Given the description of an element on the screen output the (x, y) to click on. 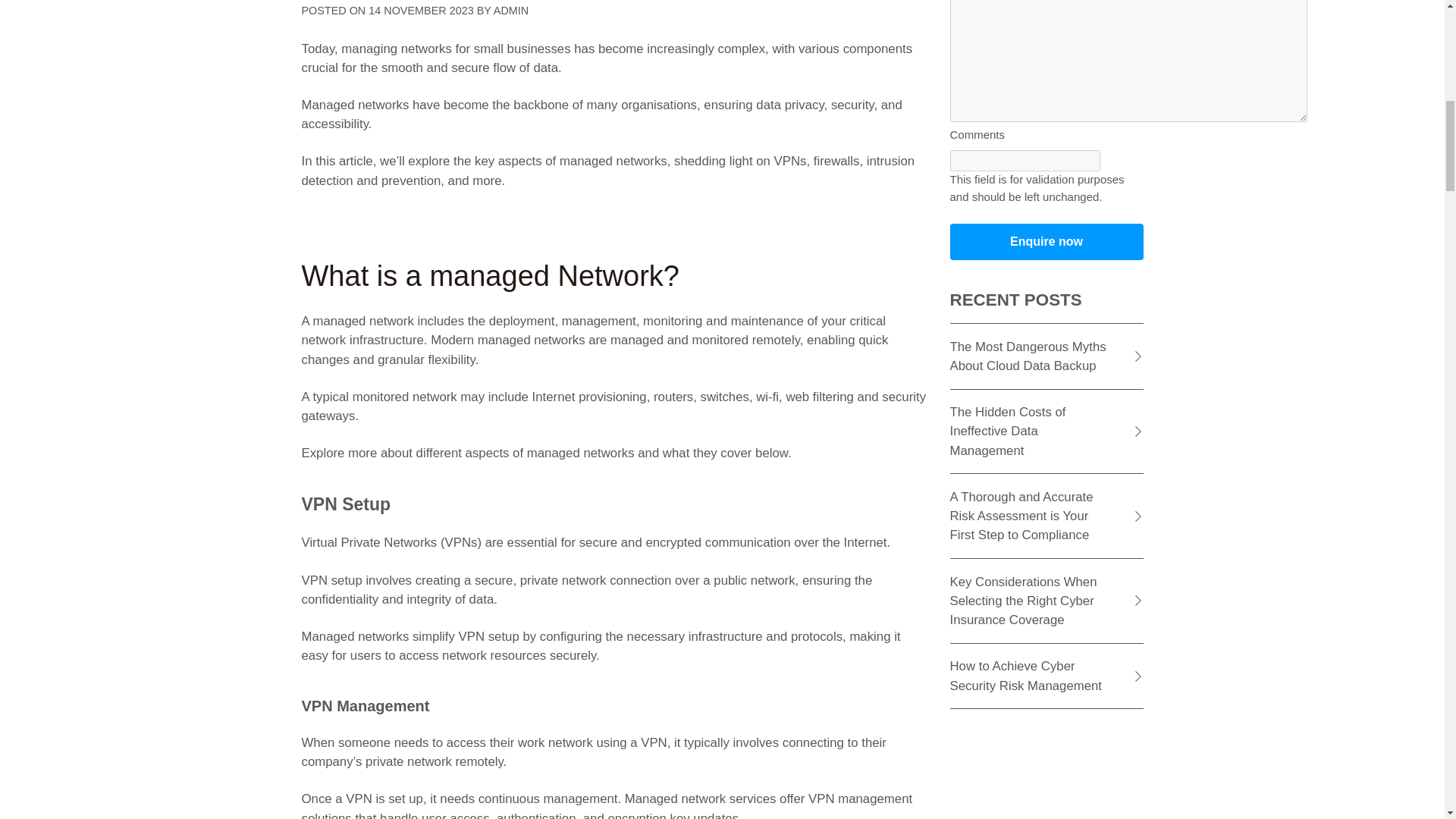
14 NOVEMBER 2023 (420, 10)
ADMIN (510, 10)
Enquire now (1045, 241)
The Hidden Costs of Ineffective Data Management (1045, 431)
Enquire now (1045, 241)
How to Achieve Cyber Security Risk Management (1045, 676)
The Most Dangerous Myths About Cloud Data Backup (1045, 356)
